Given the description of an element on the screen output the (x, y) to click on. 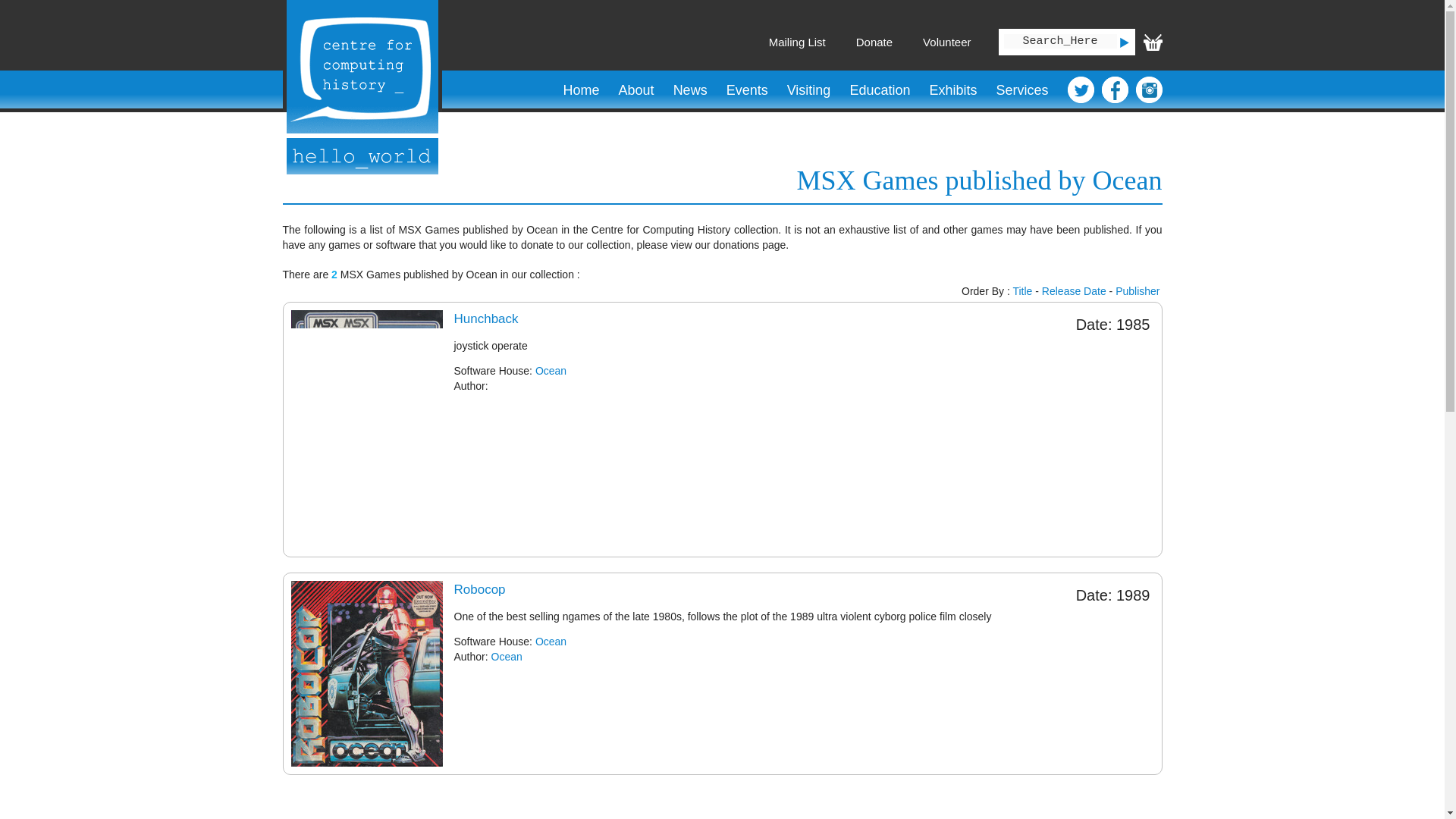
Volunteer (947, 42)
Visiting (808, 90)
Mailing List (796, 42)
Donate (874, 42)
Events (746, 90)
Exhibits (951, 90)
About (636, 90)
Home (581, 90)
News (690, 90)
Education (879, 90)
